Given the description of an element on the screen output the (x, y) to click on. 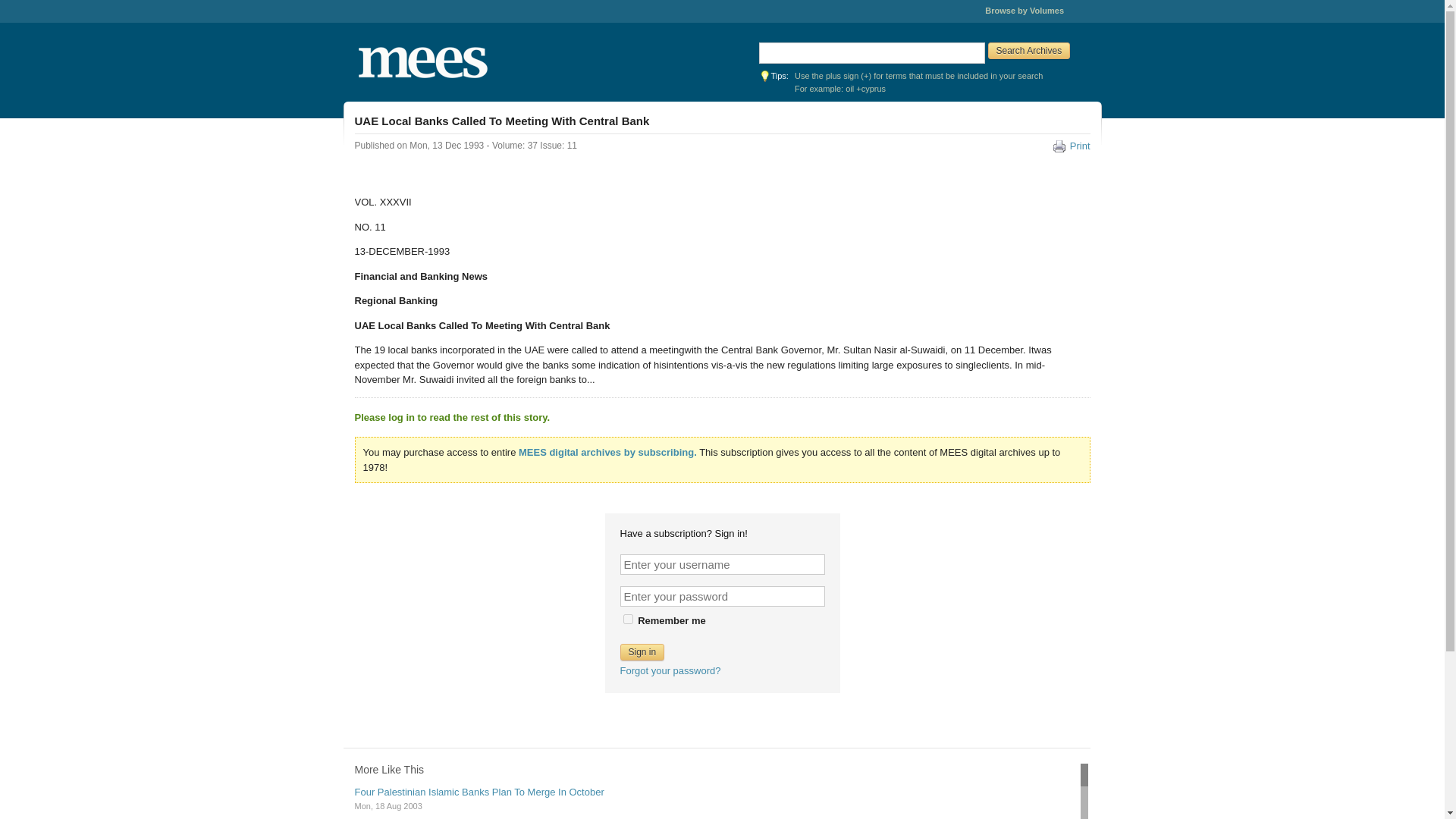
Sign in (642, 651)
Browse by Volumes (1024, 10)
Search Archives (1028, 50)
Sign in (642, 651)
Search Archives (1028, 50)
Print (1071, 146)
Four Palestinian Islamic Banks Plan To Merge In October (479, 791)
Forgot your password? (670, 669)
MEES Archives (470, 61)
MEES digital archives by subscribing. (607, 451)
1 (628, 619)
